Given the description of an element on the screen output the (x, y) to click on. 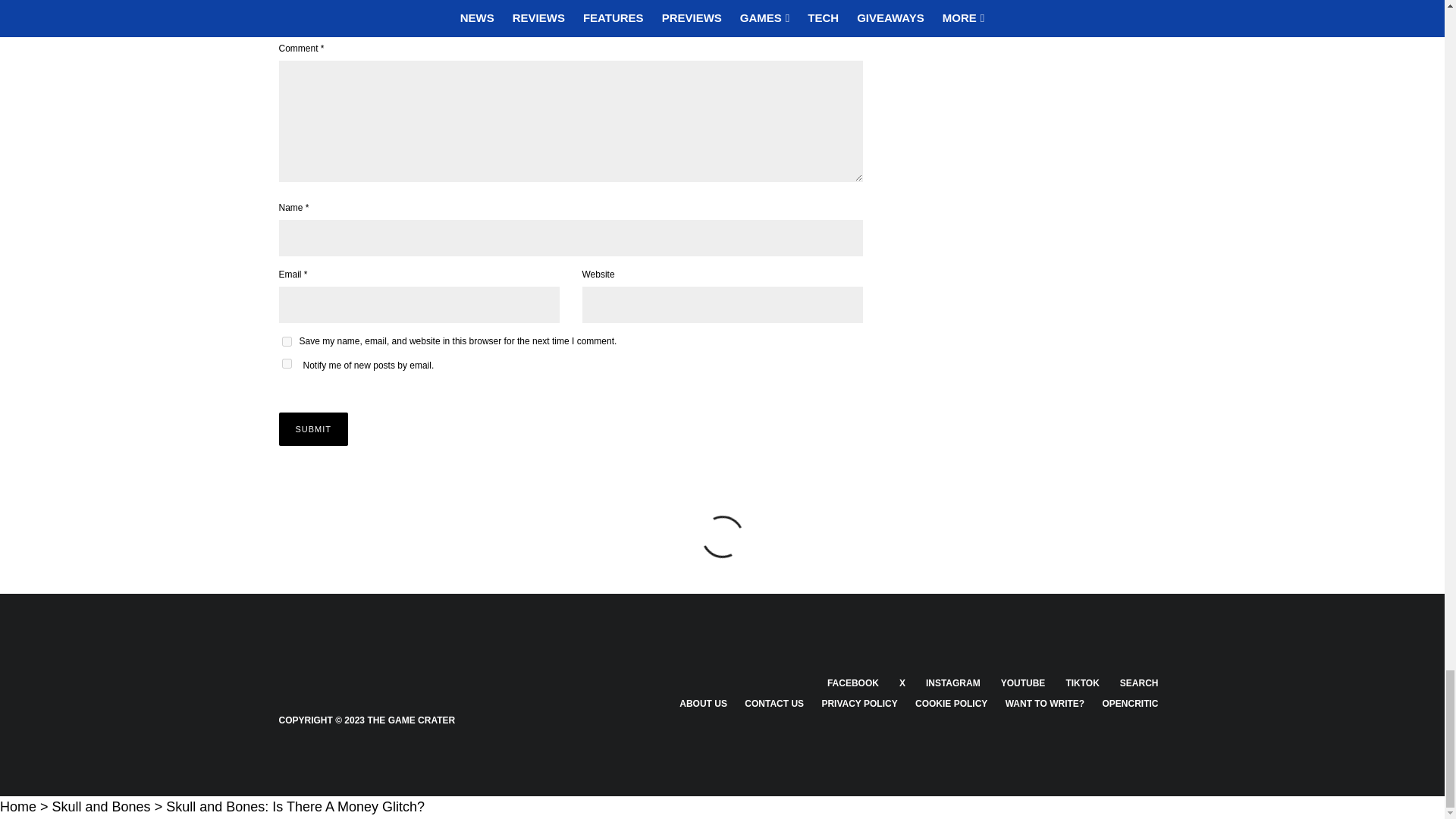
yes (287, 341)
subscribe (287, 363)
Submit (314, 428)
